Given the description of an element on the screen output the (x, y) to click on. 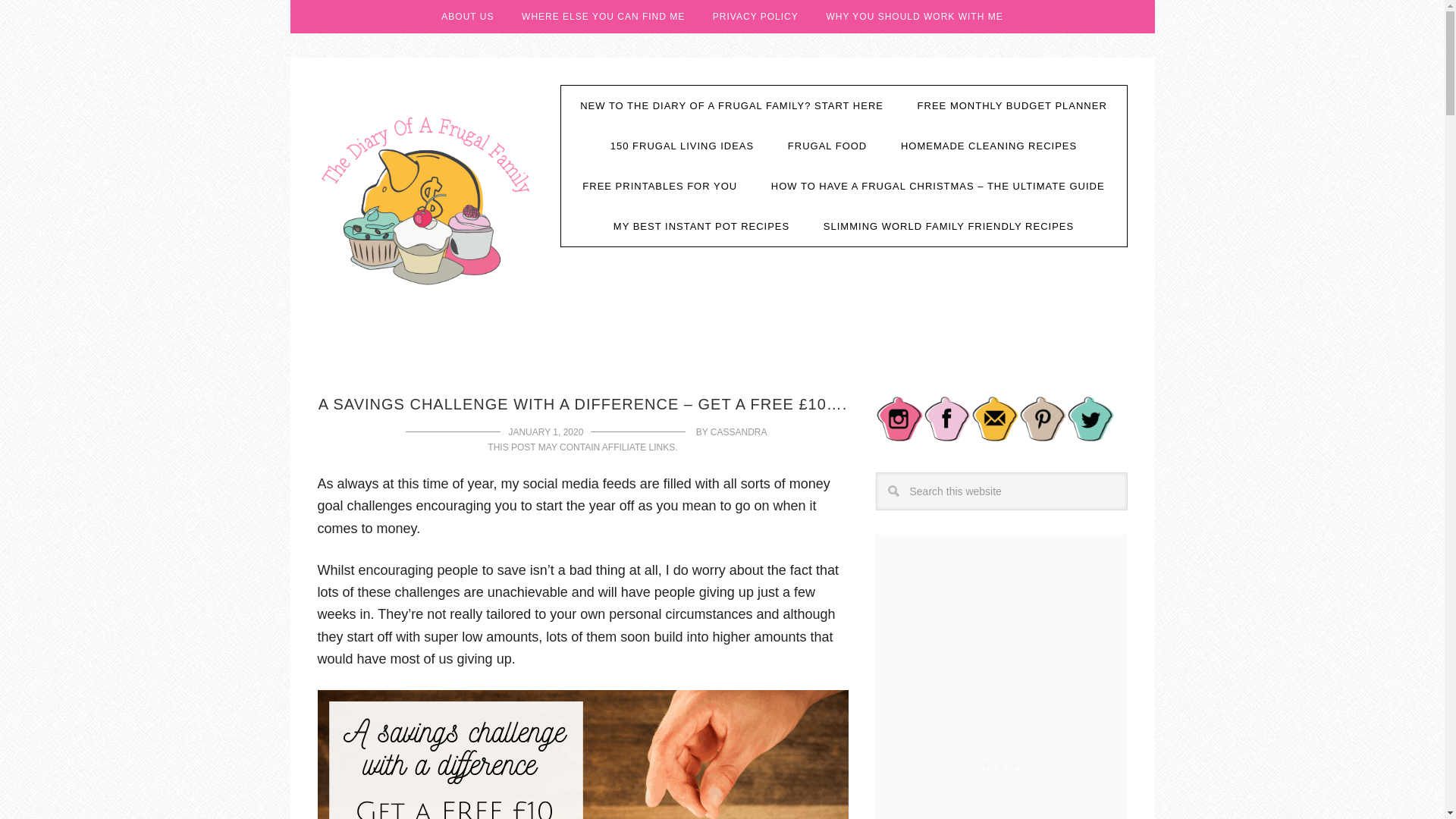
PRIVACY POLICY (755, 16)
FREE PRINTABLES FOR YOU (659, 186)
WHY YOU SHOULD WORK WITH ME (913, 16)
150 FRUGAL LIVING IDEAS (681, 146)
THE DIARY OF A FRUGAL FAMILY (427, 198)
NEW TO THE DIARY OF A FRUGAL FAMILY? START HERE (731, 105)
SLIMMING WORLD FAMILY FRIENDLY RECIPES (948, 226)
FREE MONTHLY BUDGET PLANNER (1012, 105)
CASSANDRA (738, 431)
ABOUT US (467, 16)
MY BEST INSTANT POT RECIPES (701, 226)
HOMEMADE CLEANING RECIPES (988, 146)
FRUGAL FOOD (827, 146)
